Given the description of an element on the screen output the (x, y) to click on. 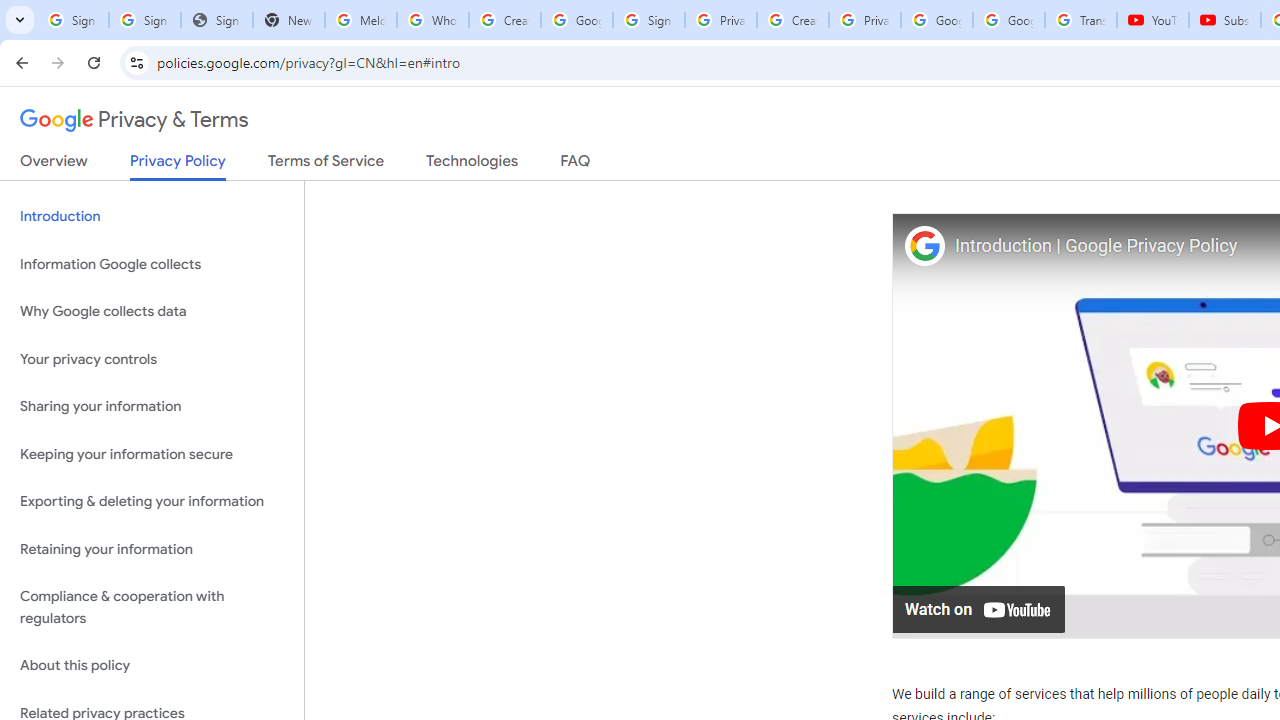
Watch on YouTube (979, 608)
Sharing your information (152, 407)
Compliance & cooperation with regulators (152, 607)
YouTube (1153, 20)
Sign In - USA TODAY (216, 20)
About this policy (152, 666)
Sign in - Google Accounts (144, 20)
